Given the description of an element on the screen output the (x, y) to click on. 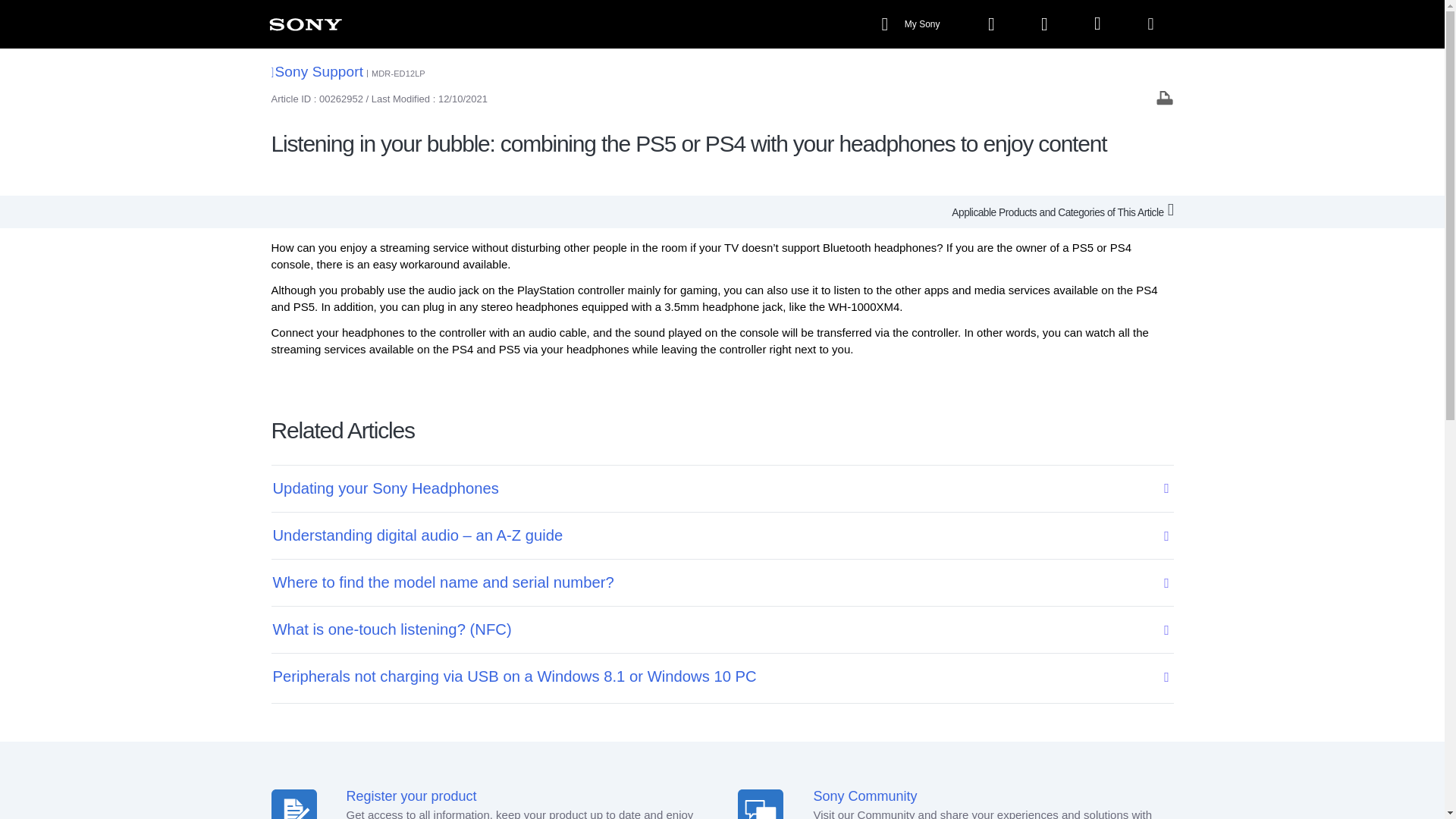
My Sony (912, 24)
Print (1164, 97)
